Given the description of an element on the screen output the (x, y) to click on. 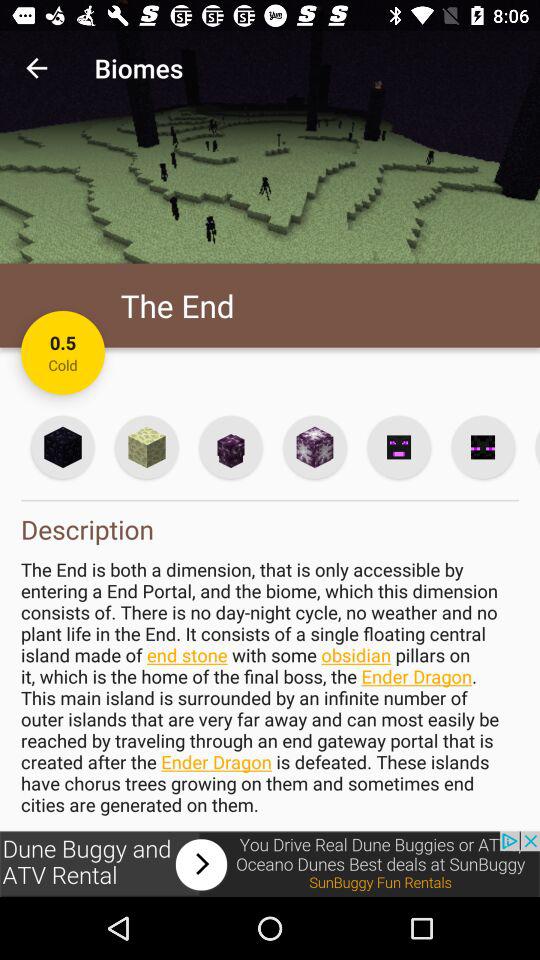
gift pega (146, 446)
